Given the description of an element on the screen output the (x, y) to click on. 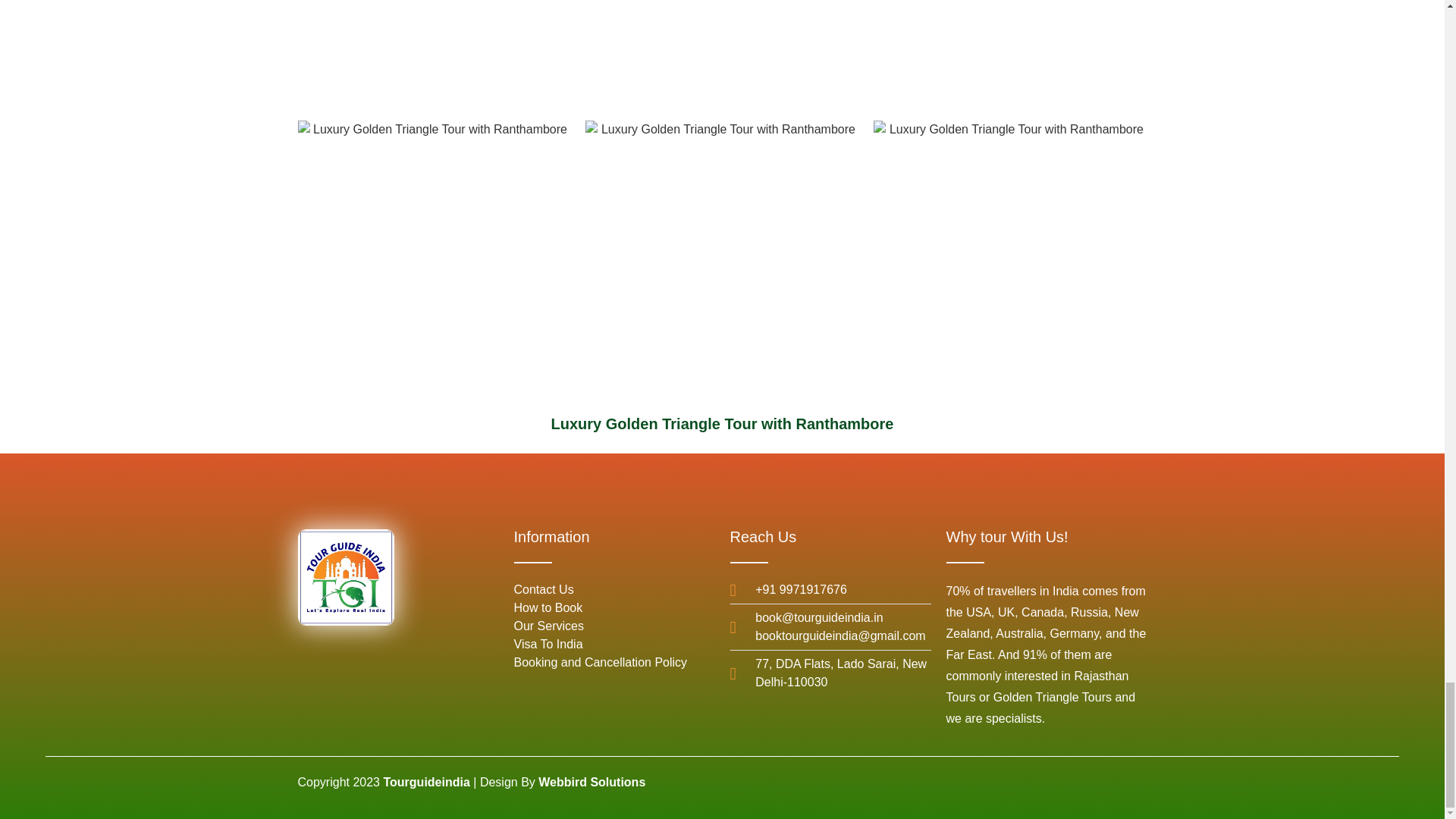
Luxury Golden Triangle Tour with Ranthambore (722, 52)
Luxury Golden Triangle Tour with Ranthambore (433, 52)
Luxury Golden Triangle Tour with Ranthambore (722, 256)
Luxury Golden Triangle Tour with Ranthambore (1010, 256)
Luxury Golden Triangle Tour with Ranthambore (1010, 52)
Luxury Golden Triangle Tour with Ranthambore (433, 256)
